Given the description of an element on the screen output the (x, y) to click on. 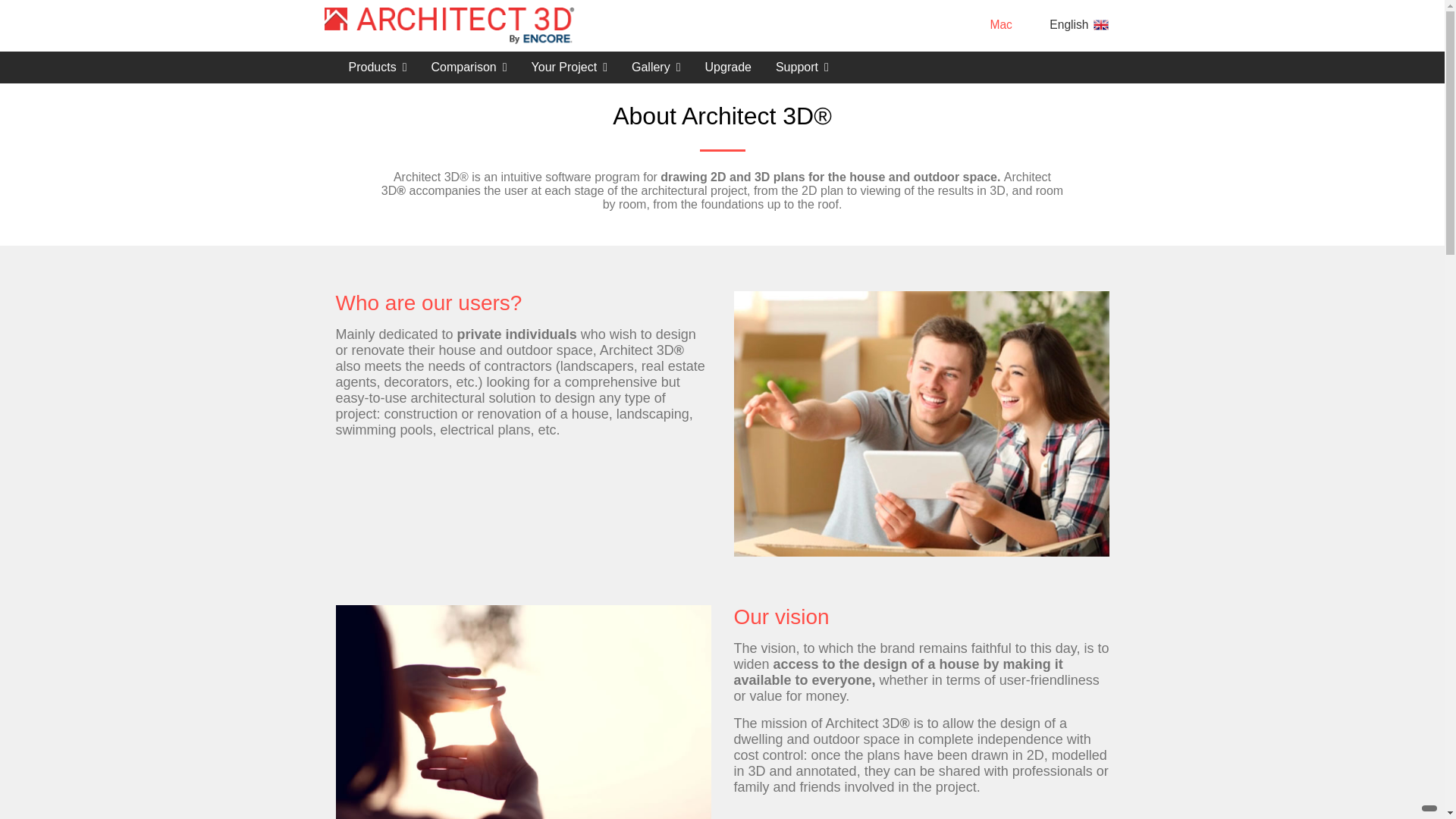
English (1080, 23)
Mac (1002, 23)
Architect 3D (449, 26)
Gallery (656, 67)
Upgrade (727, 67)
Support (801, 67)
Your Project (569, 67)
Products (377, 67)
Comparison (468, 67)
